Given the description of an element on the screen output the (x, y) to click on. 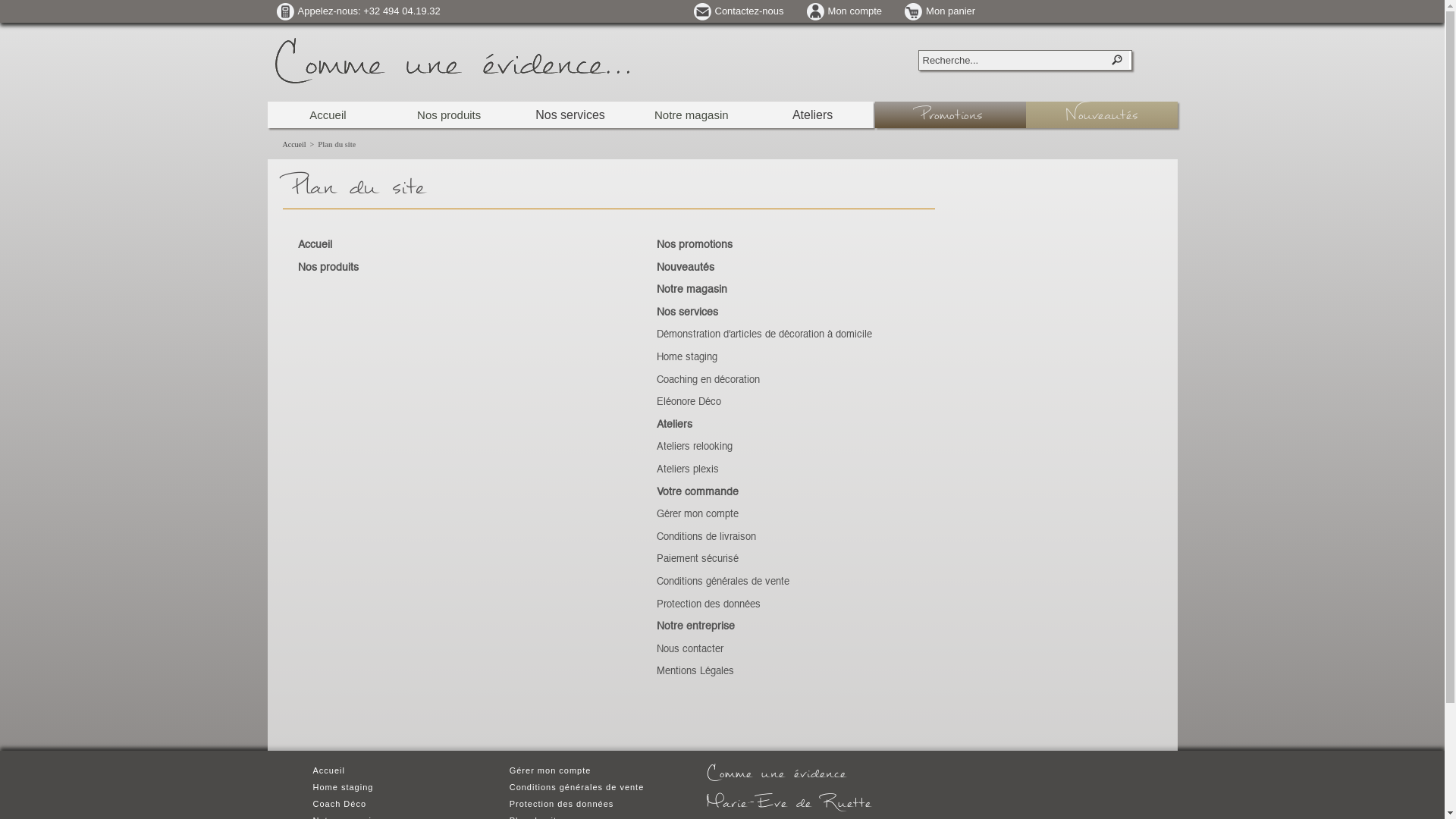
Accueil Element type: text (327, 114)
Contactez-nous Element type: text (738, 10)
Ateliers relooking Element type: text (694, 446)
Nos produits Element type: text (327, 267)
Mon panier Element type: text (939, 10)
Nos promotions Element type: text (694, 244)
Accueil Element type: text (328, 770)
Home staging Element type: text (342, 786)
Ateliers plexis Element type: text (687, 469)
Conditions de livraison Element type: text (706, 537)
Home staging Element type: text (686, 357)
Mon compte Element type: text (844, 10)
Accueil Element type: text (314, 244)
Notre magasin Element type: text (691, 289)
Nos produits Element type: text (448, 114)
Promotions Element type: text (950, 114)
Accueil Element type: text (293, 144)
Notre magasin Element type: text (691, 114)
Nous contacter Element type: text (689, 649)
